Given the description of an element on the screen output the (x, y) to click on. 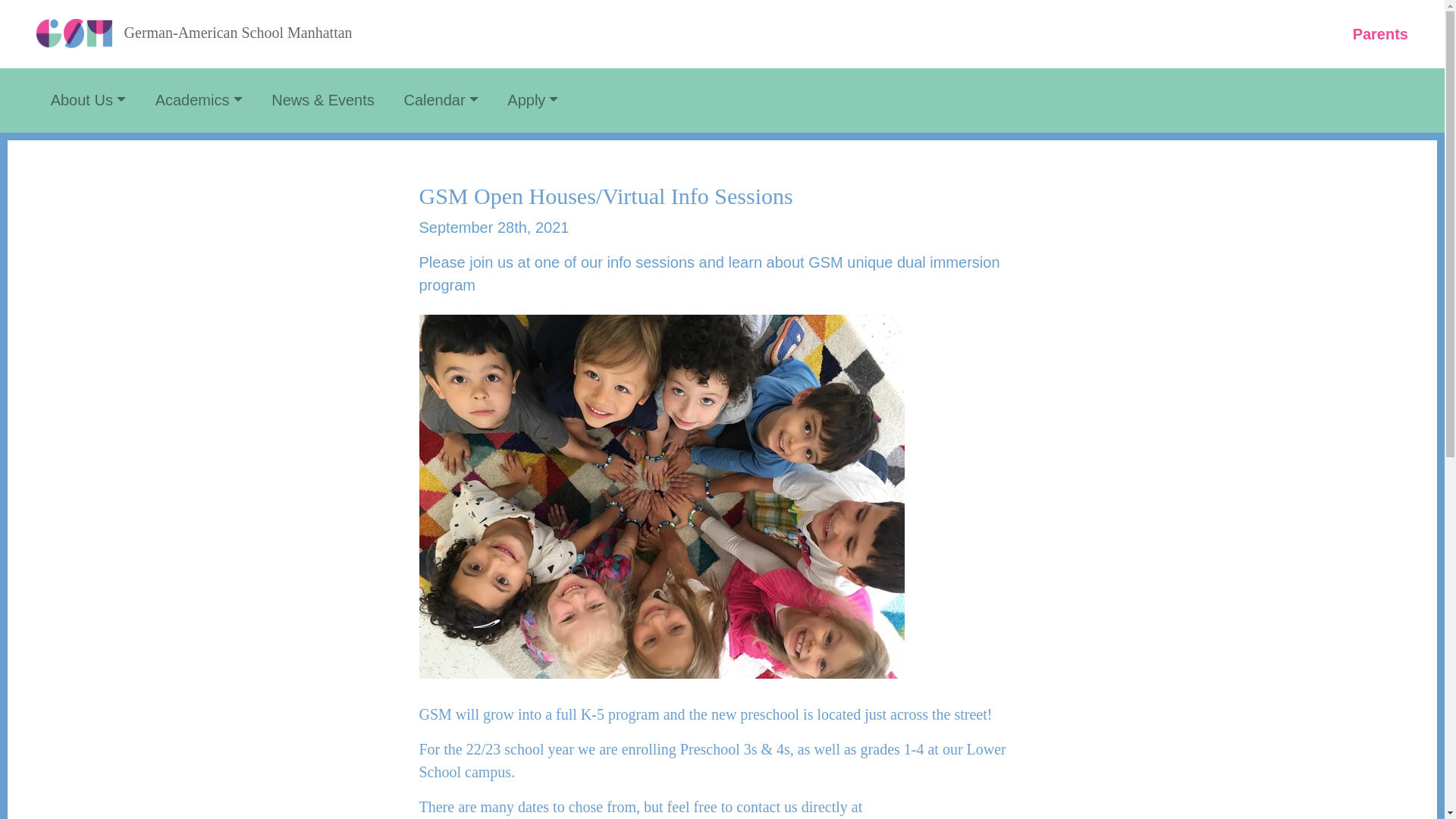
About Us (79, 99)
Apply (524, 99)
Calendar (432, 99)
Parents (1371, 33)
Parents (1371, 33)
About Us (79, 99)
Academics (190, 99)
German-American School Manhattan (194, 34)
